Given the description of an element on the screen output the (x, y) to click on. 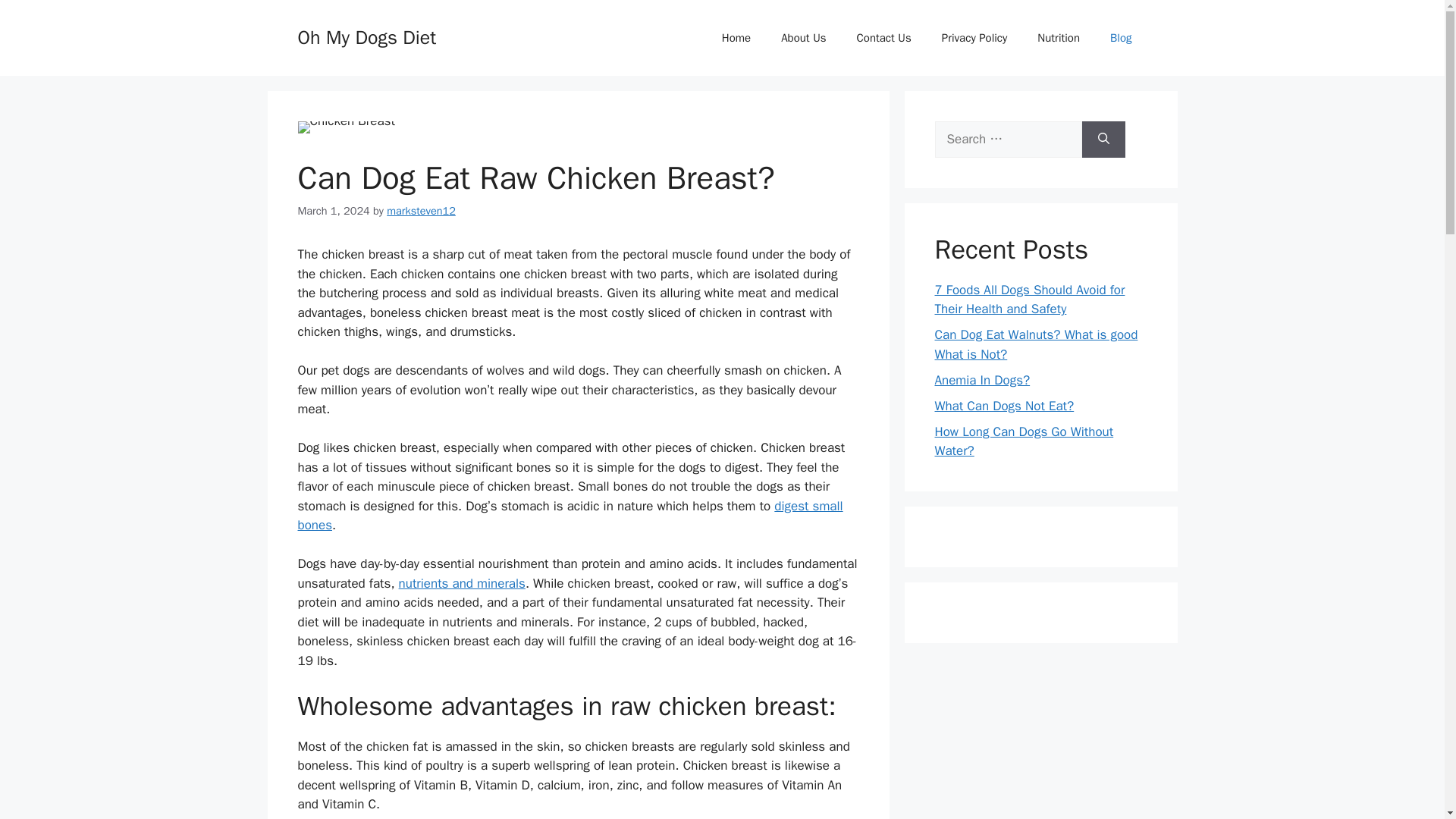
Blog (1120, 37)
About Us (803, 37)
Oh My Dogs Diet (366, 37)
How Long Can Dogs Go Without Water? (1023, 440)
7 Foods All Dogs Should Avoid for Their Health and Safety (1029, 299)
digest small bones (570, 515)
marksteven12 (421, 210)
Home (735, 37)
nutrients and minerals (461, 583)
Contact Us (883, 37)
View all posts by marksteven12 (421, 210)
Search for: (1007, 139)
Nutrition (1058, 37)
Privacy Policy (974, 37)
Anemia In Dogs? (981, 379)
